Given the description of an element on the screen output the (x, y) to click on. 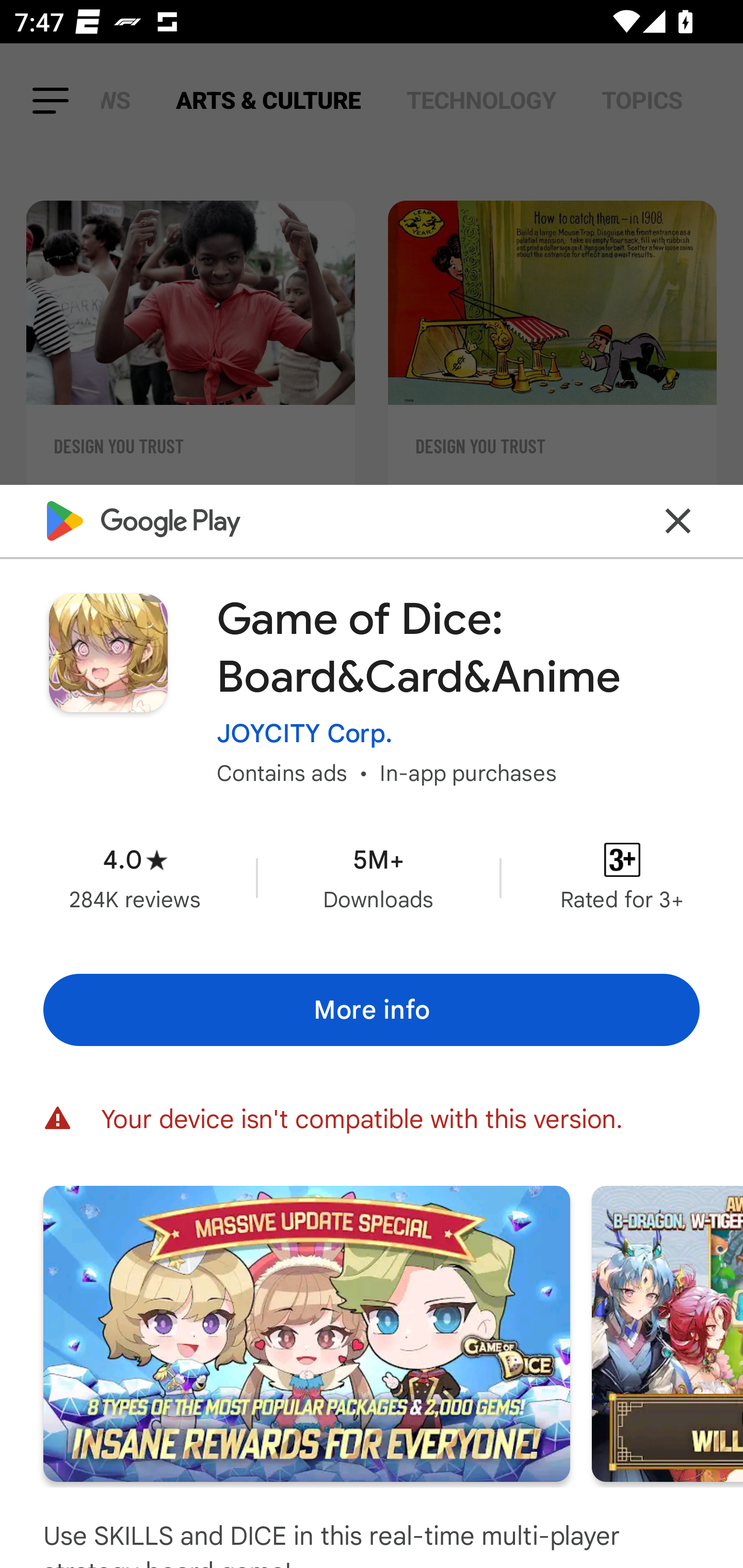
Close (677, 520)
JOYCITY Corp. (304, 732)
More info (371, 1009)
Screenshot "1" of "7" (306, 1333)
